Given the description of an element on the screen output the (x, y) to click on. 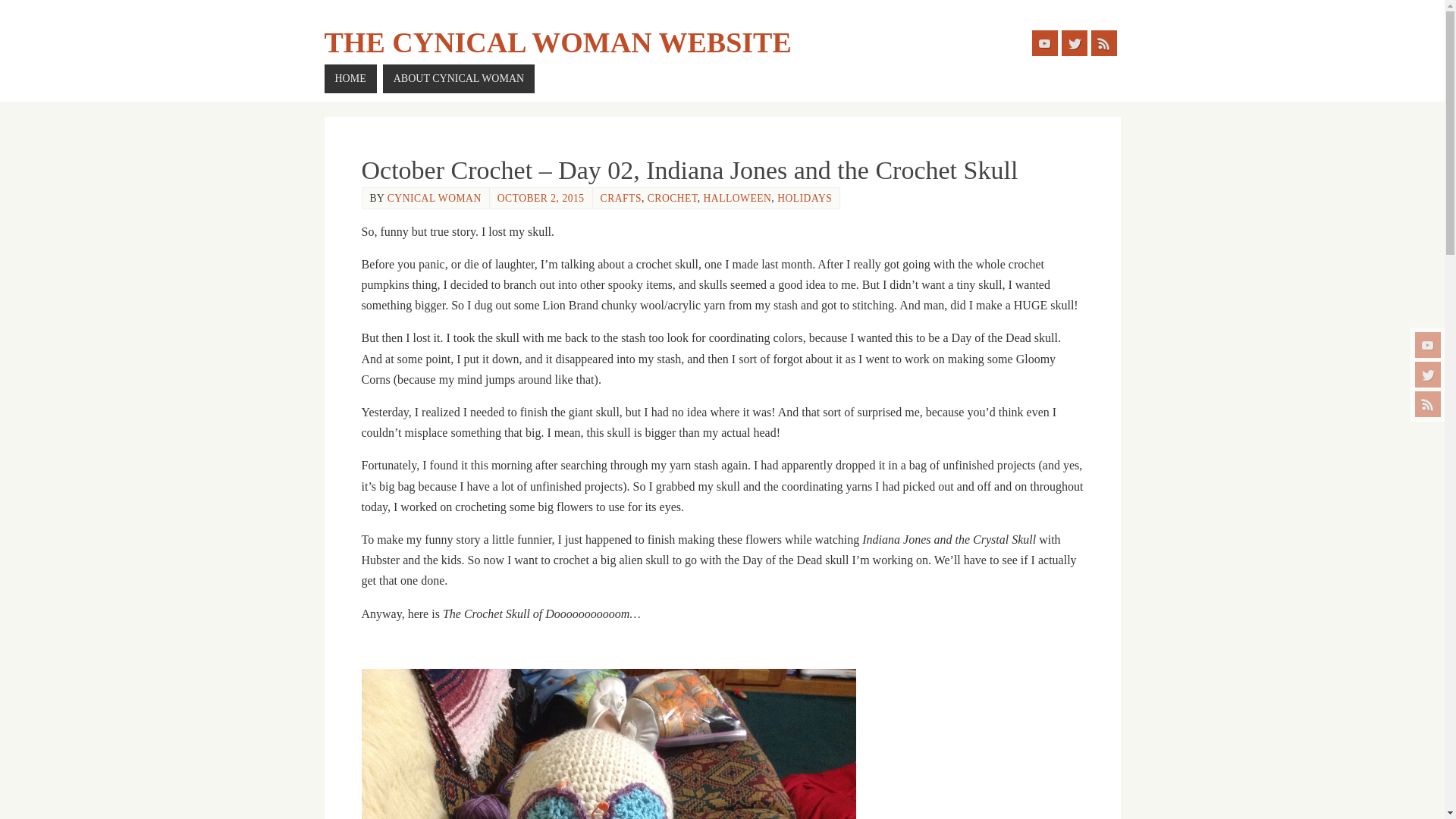
OCTOBER 2, 2015 (541, 197)
HOLIDAYS (804, 197)
YouTube (1428, 344)
YouTube (1043, 43)
HALLOWEEN (737, 197)
Crochet Skull (608, 744)
CROCHET (672, 197)
Twitter (1074, 43)
The Cynical Woman Website (558, 42)
THE CYNICAL WOMAN WEBSITE (558, 42)
